Given the description of an element on the screen output the (x, y) to click on. 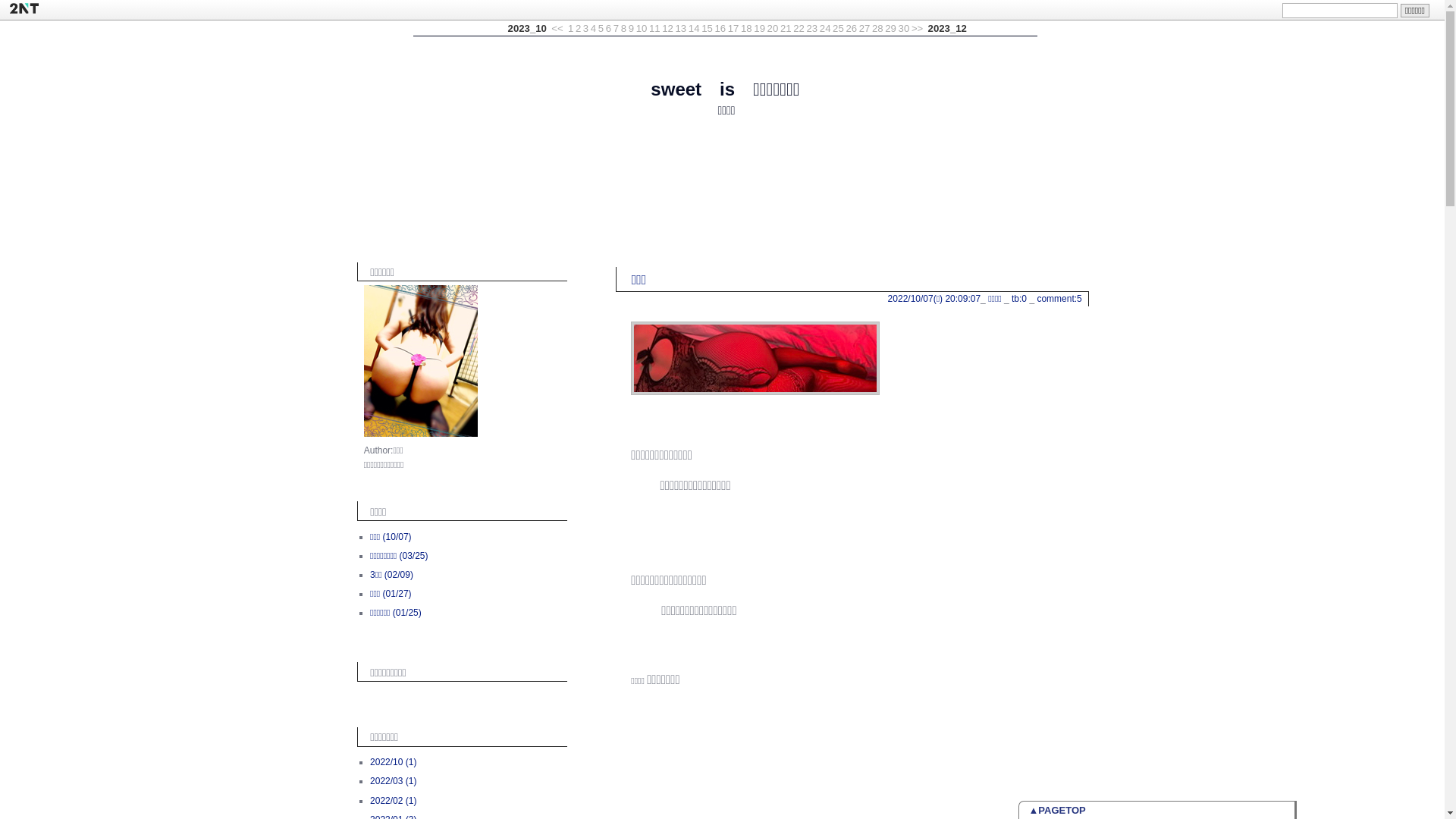
2023_10 Element type: text (527, 28)
2023_12 Element type: text (947, 28)
2022/10 (1) Element type: text (393, 761)
tb:0 Element type: text (1018, 298)
comment:5 Element type: text (1058, 298)
2022/02 (1) Element type: text (393, 800)
2022/03 (1) Element type: text (393, 780)
